Given the description of an element on the screen output the (x, y) to click on. 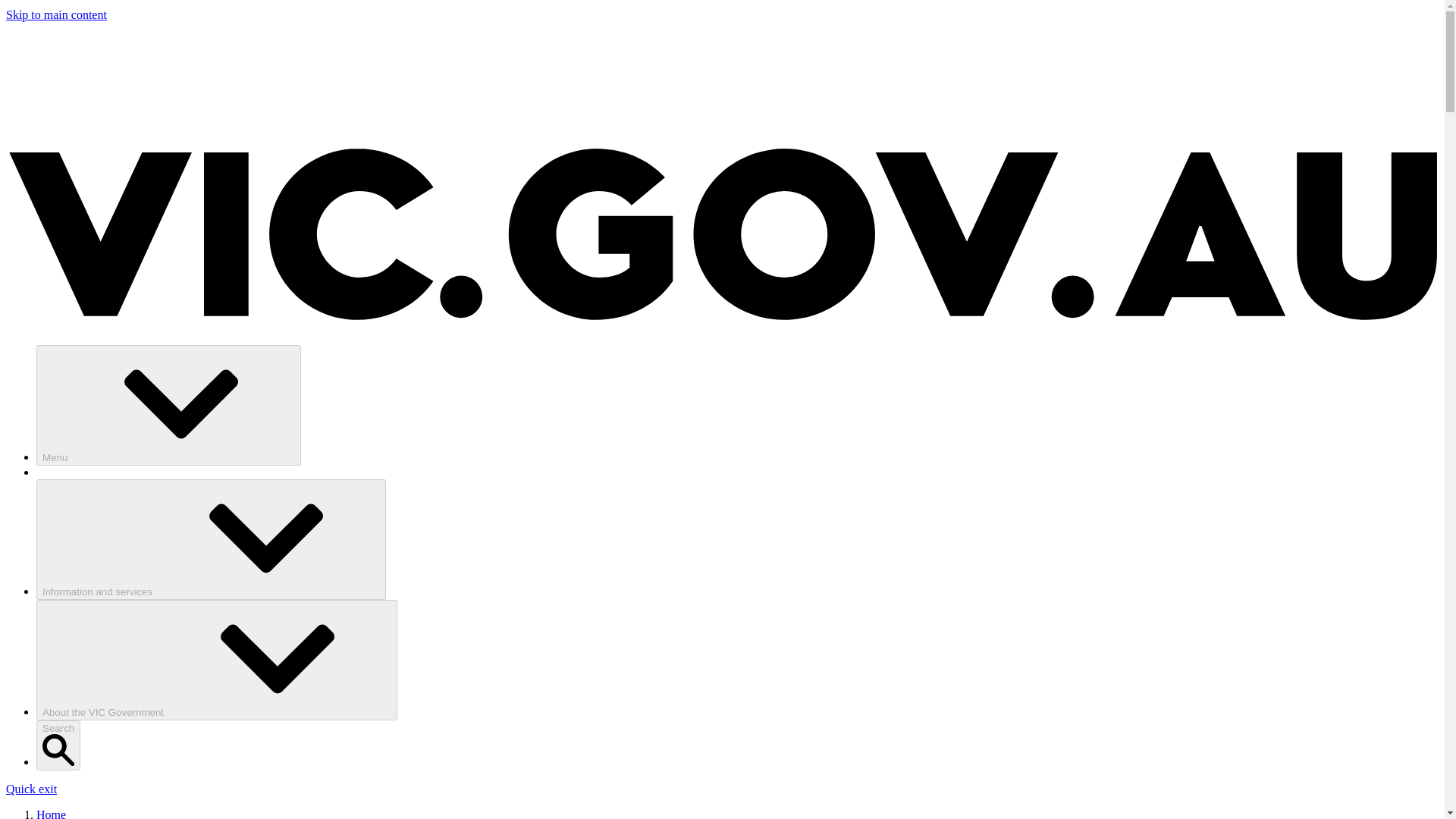
Skip to main content (55, 14)
Quick exit (30, 788)
Home (50, 813)
